Given the description of an element on the screen output the (x, y) to click on. 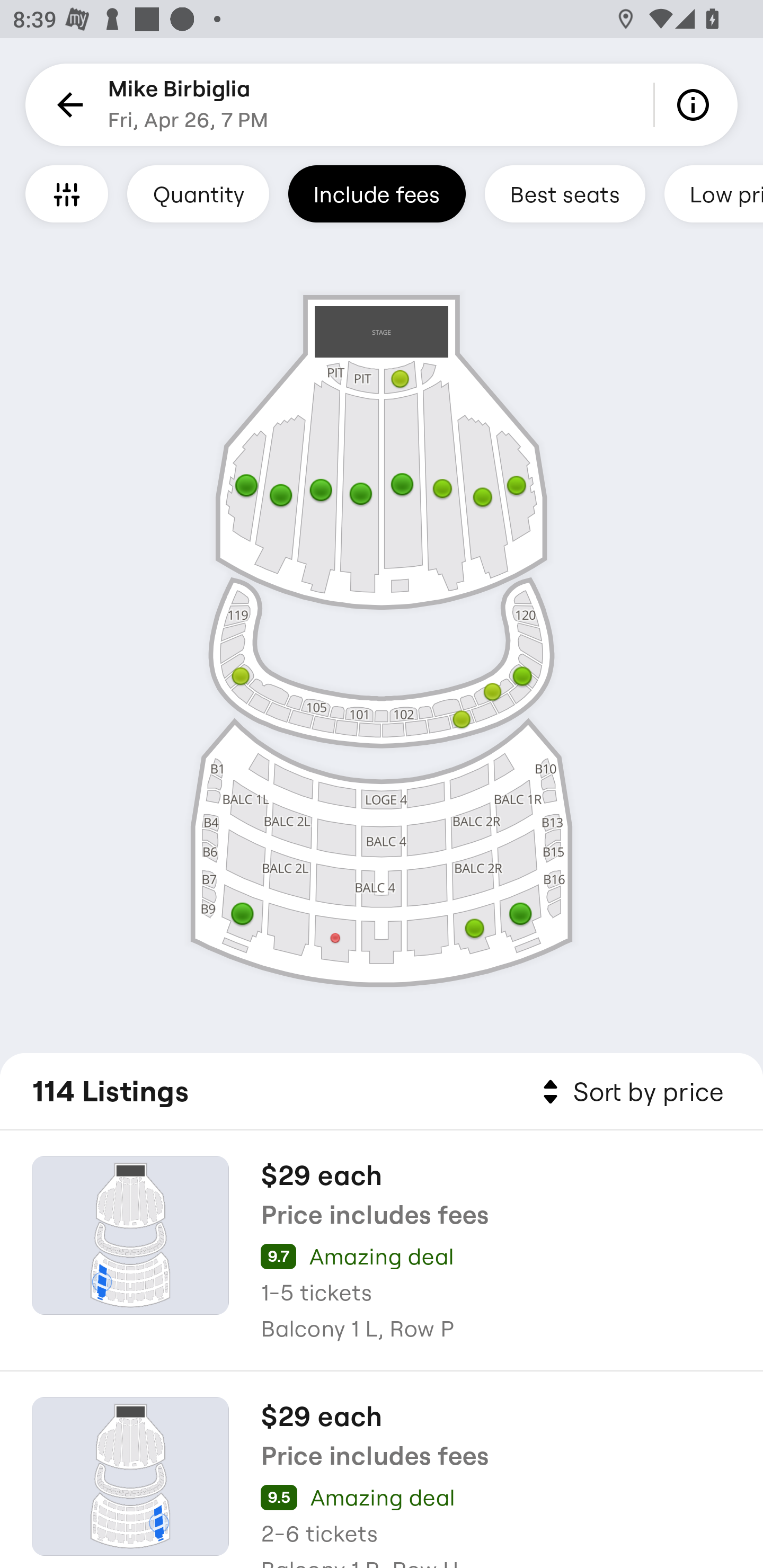
Back Mike Birbiglia Fri, Apr 26, 7 PM Info (381, 104)
Back (66, 104)
Mike Birbiglia Fri, Apr 26, 7 PM (188, 104)
Info (695, 104)
Filters and Accessible Seating (66, 193)
Quantity (198, 193)
Include fees (376, 193)
Best seats (564, 193)
Low prices (713, 193)
Sort by price (629, 1091)
